Given the description of an element on the screen output the (x, y) to click on. 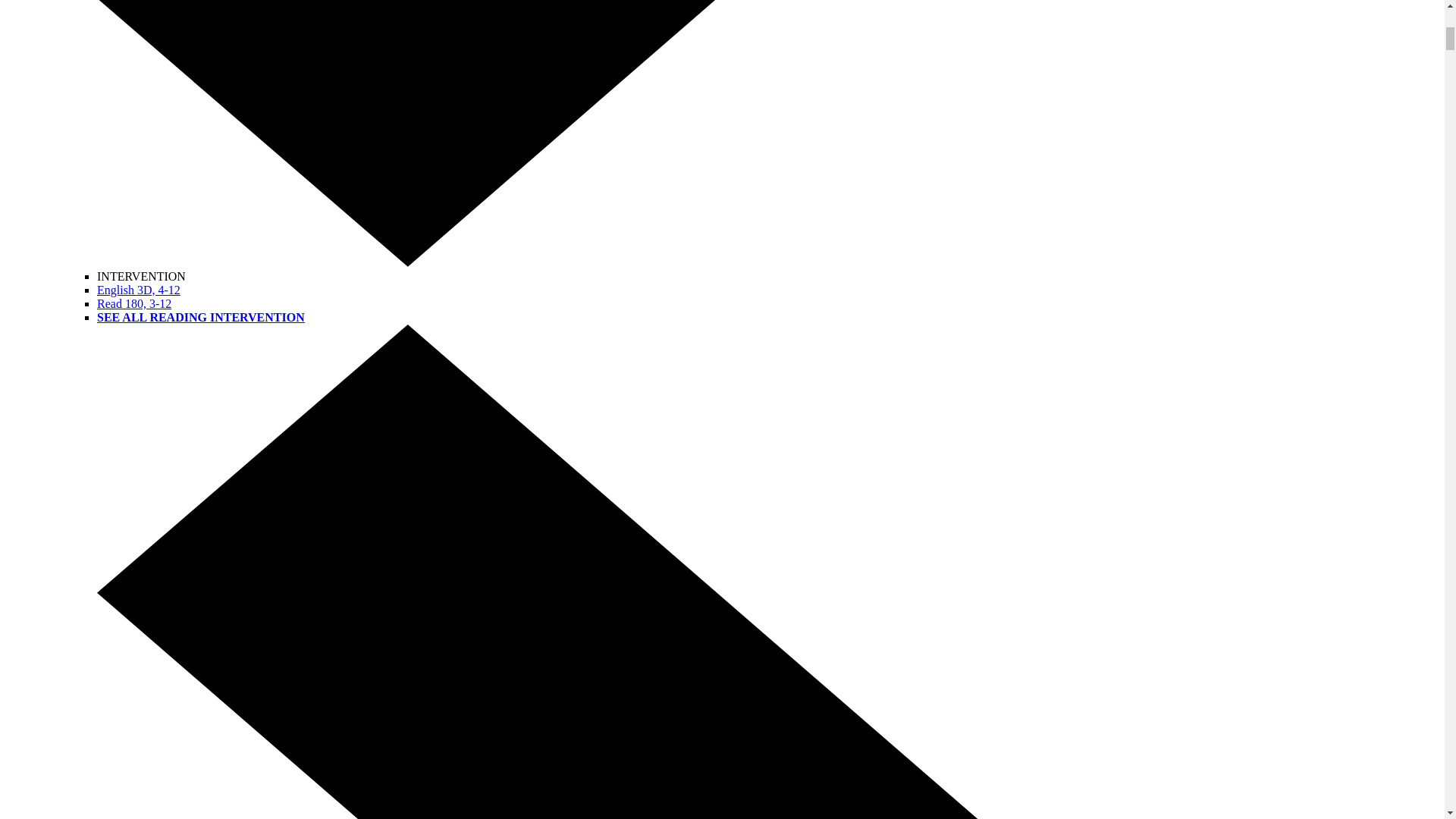
English 3D, 4-12 (138, 289)
Read 180, 3-12 (134, 303)
English 3D, 4-12 (138, 289)
Read 180, 3-12 (134, 303)
